Given the description of an element on the screen output the (x, y) to click on. 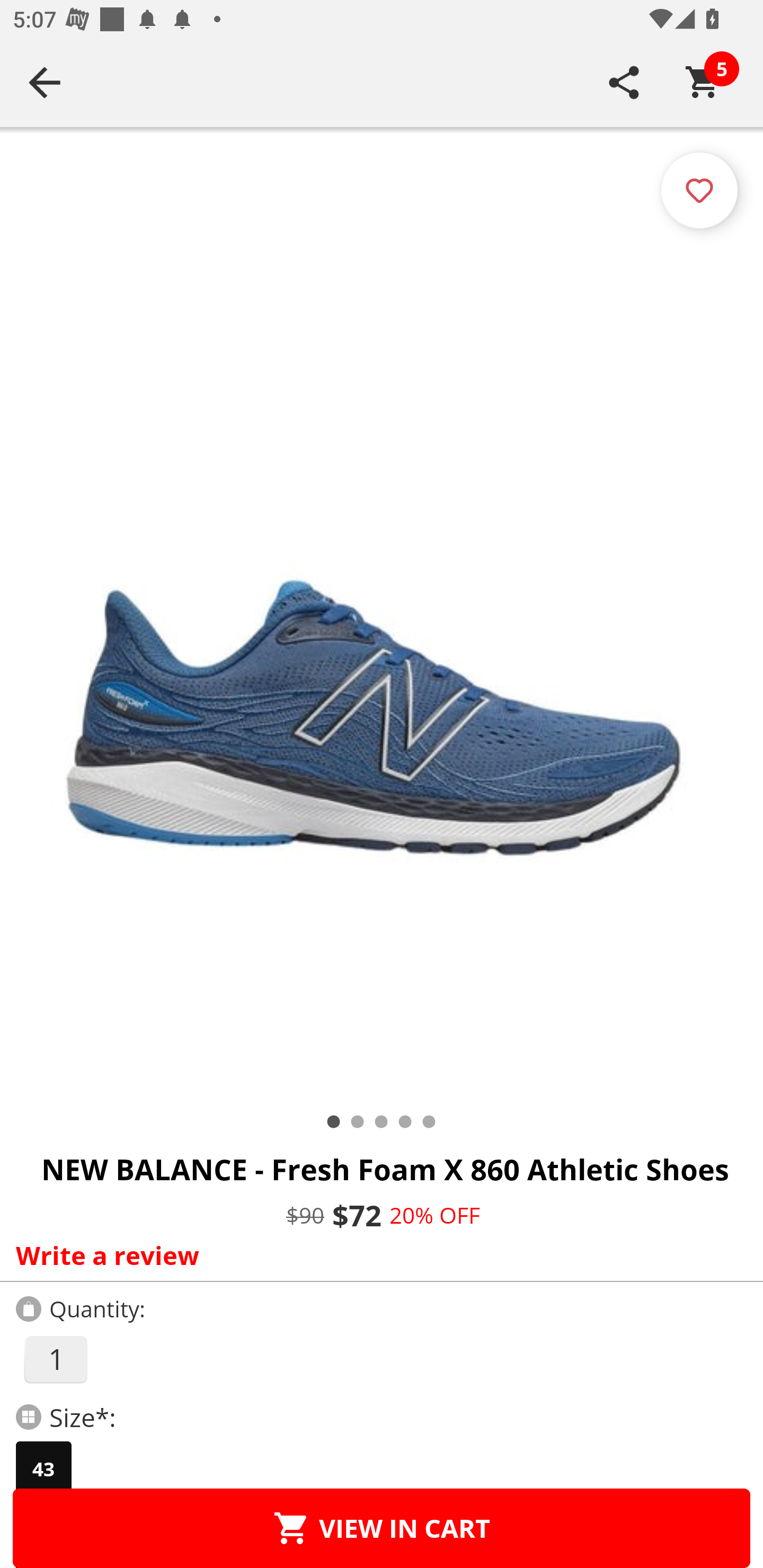
Navigate up (44, 82)
SHARE (623, 82)
Cart (703, 81)
Write a review (377, 1255)
1 (55, 1358)
43 (43, 1468)
VIEW IN CART (381, 1528)
